Given the description of an element on the screen output the (x, y) to click on. 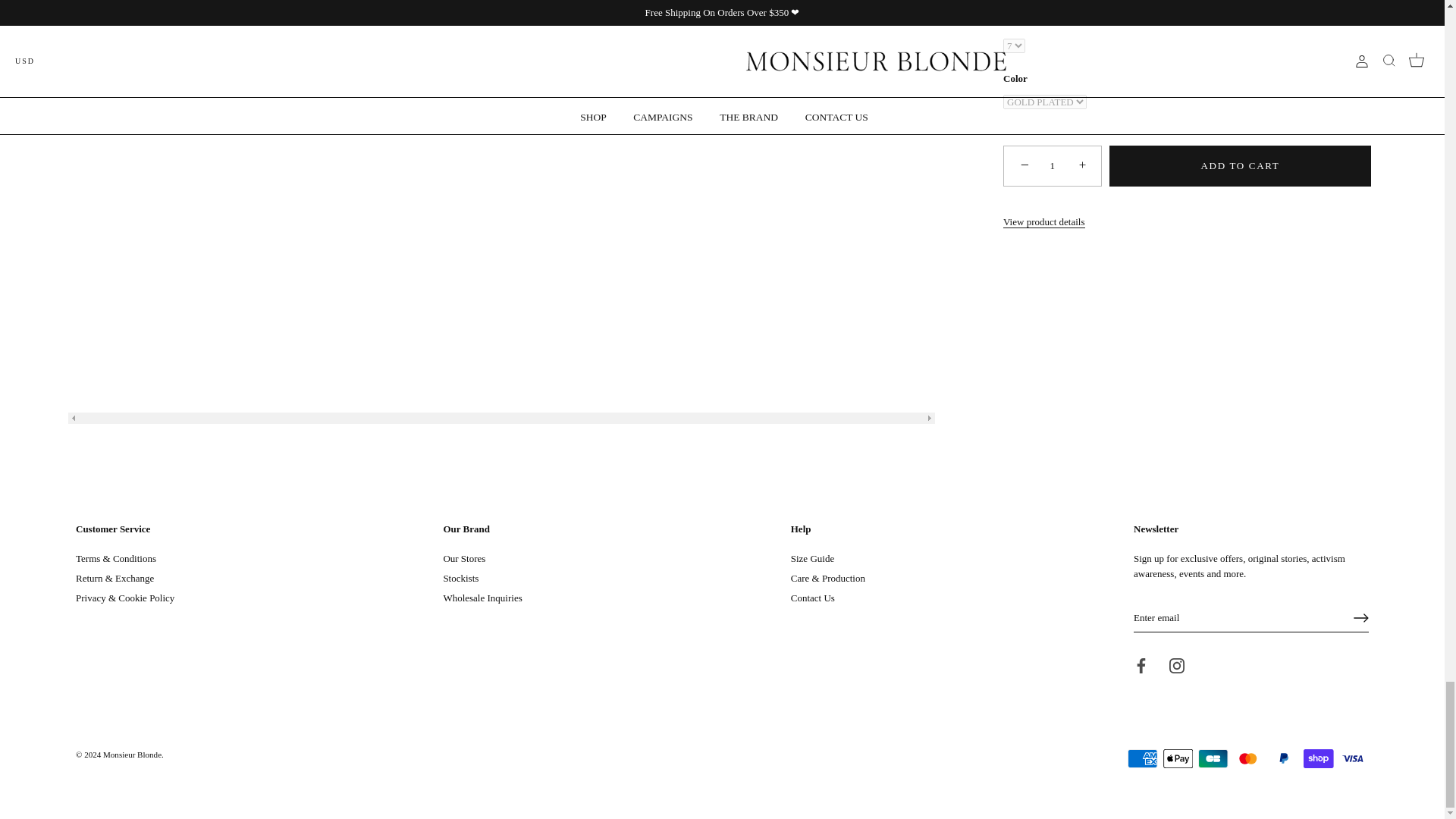
Visa (1353, 758)
Apple Pay (1178, 758)
Instagram (1177, 665)
PayPal (1283, 758)
Cartes Bancaires (1213, 758)
RIGHT ARROW LONG (1361, 617)
American Express (1141, 758)
Mastercard (1247, 758)
Shop Pay (1318, 758)
